Given the description of an element on the screen output the (x, y) to click on. 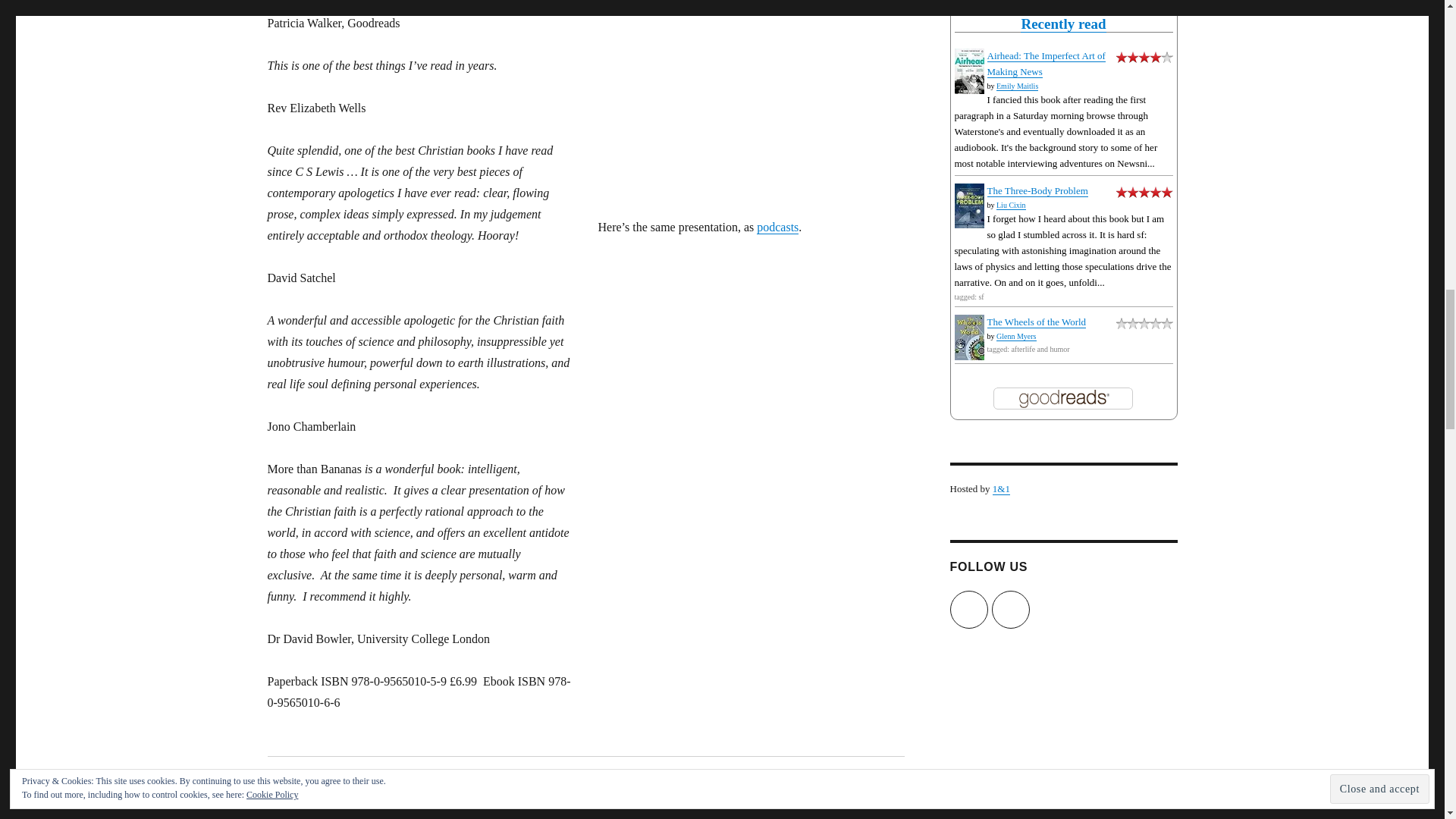
Click to print (508, 809)
it was amazing (1144, 190)
Click to share on Facebook (374, 809)
Click to email a link to a friend (448, 809)
Click to share on Twitter (297, 809)
really liked it (1144, 55)
